Given the description of an element on the screen output the (x, y) to click on. 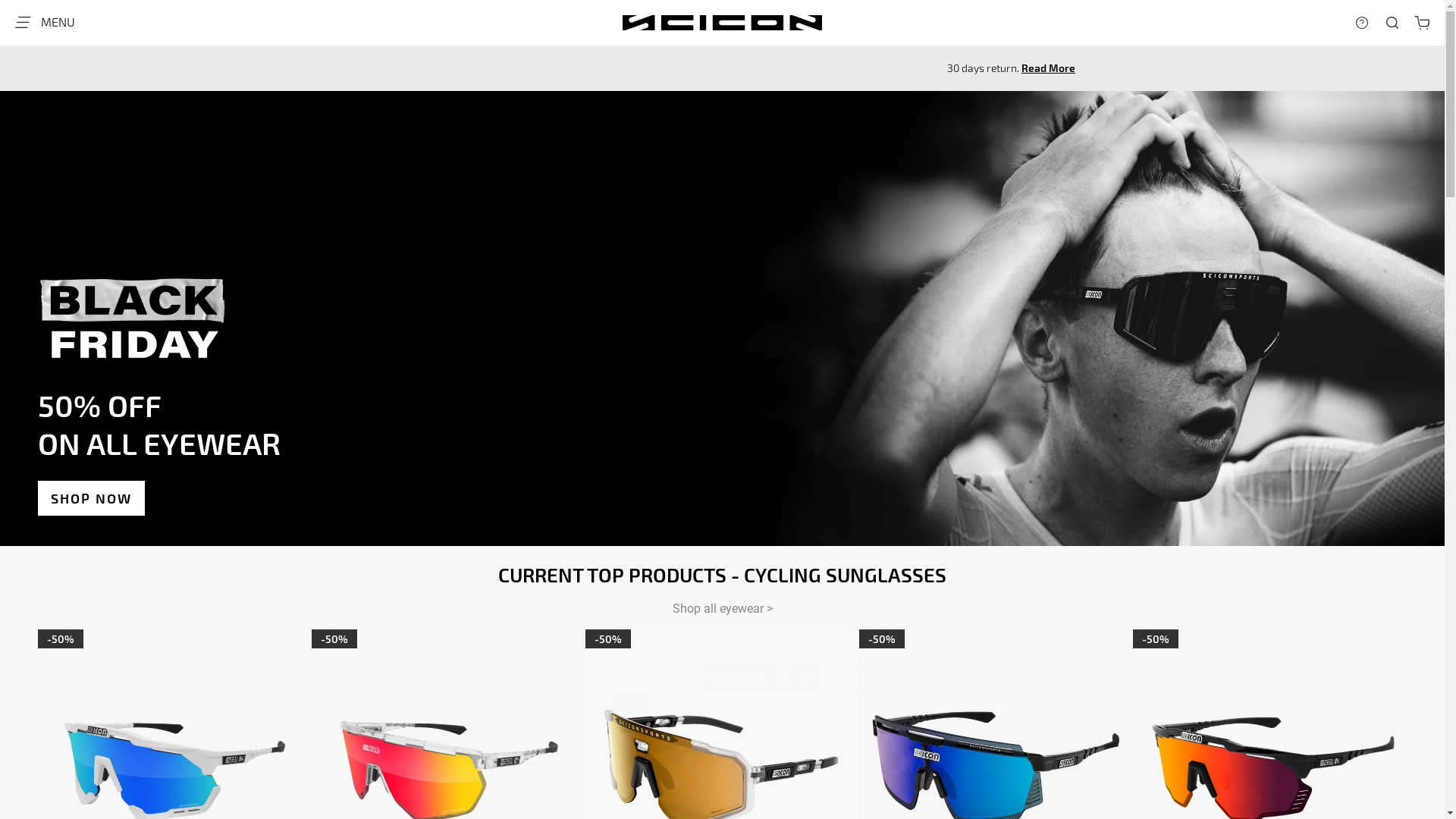
SHOP NOW Element type: text (90, 497)
My Cart Element type: text (1421, 22)
50% off! Element type: text (851, 66)
Shop all eyewear > Element type: text (721, 608)
Contact Us Element type: hover (1361, 32)
